Given the description of an element on the screen output the (x, y) to click on. 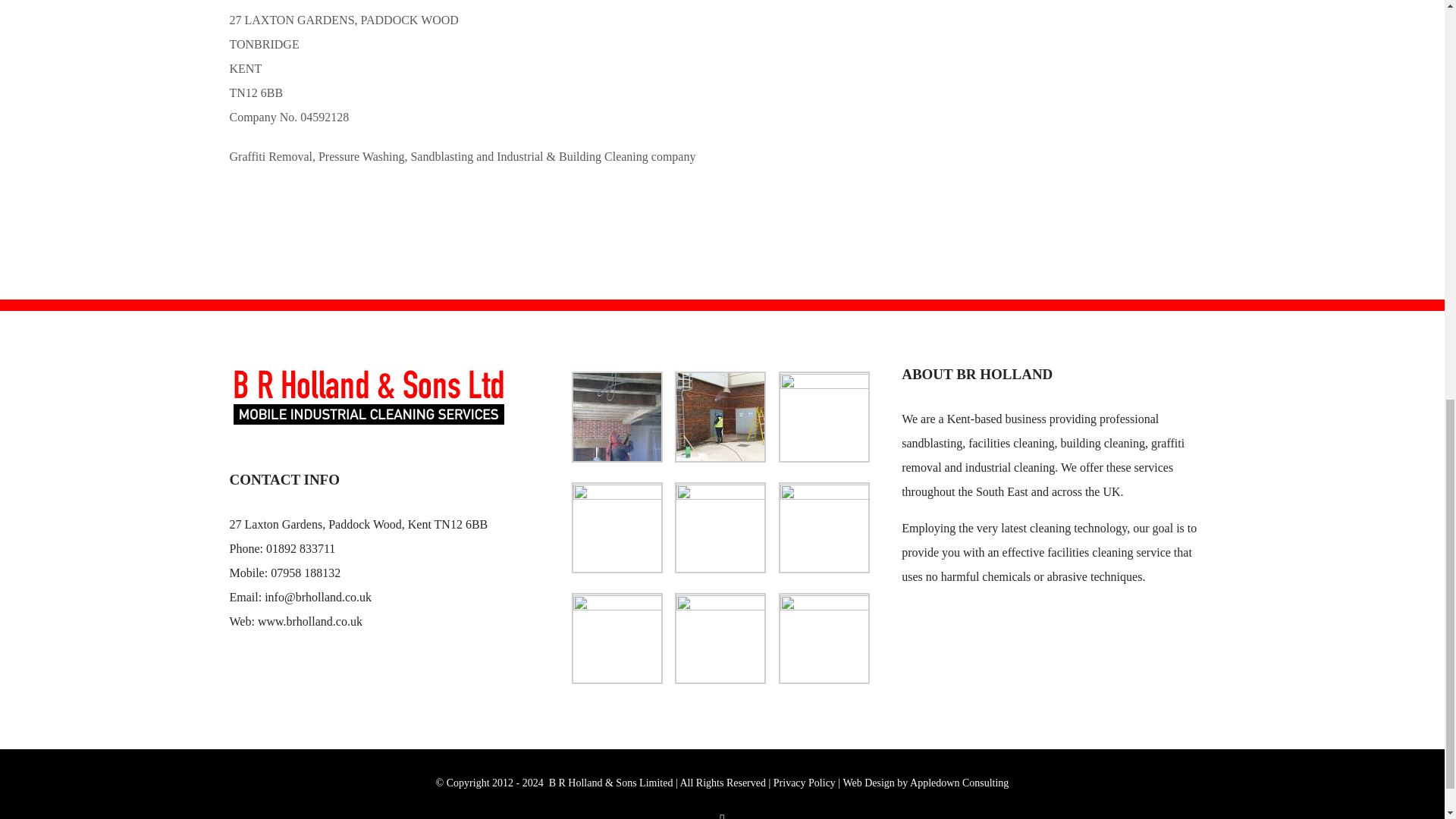
www.brholland.co.uk (309, 621)
07958 188132 (305, 572)
Appledown Consulting (959, 782)
01892 833711 (300, 548)
Privacy Policy (804, 782)
